Given the description of an element on the screen output the (x, y) to click on. 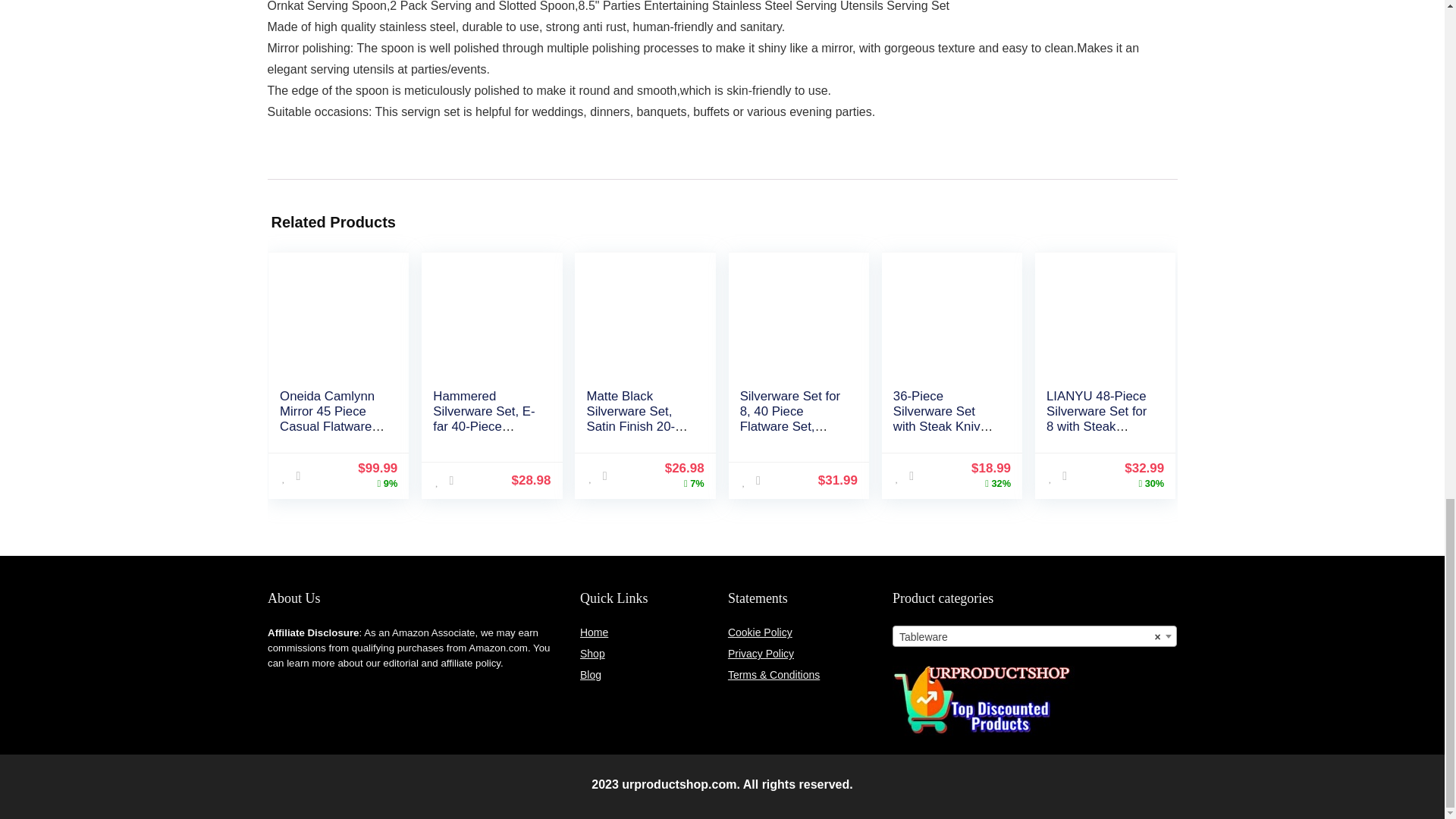
Tableware (1034, 636)
